Given the description of an element on the screen output the (x, y) to click on. 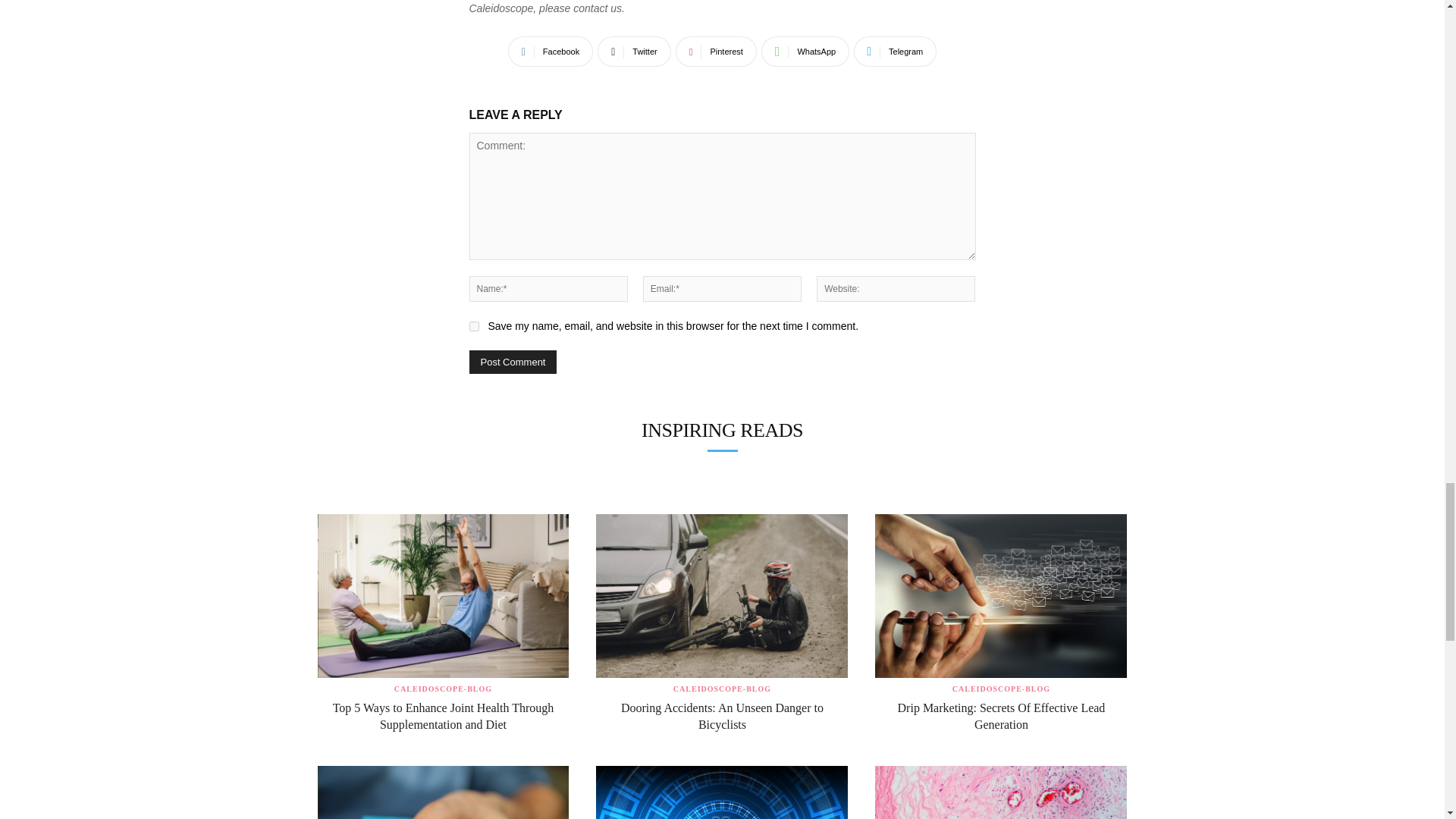
Post Comment (512, 361)
yes (473, 326)
